Given the description of an element on the screen output the (x, y) to click on. 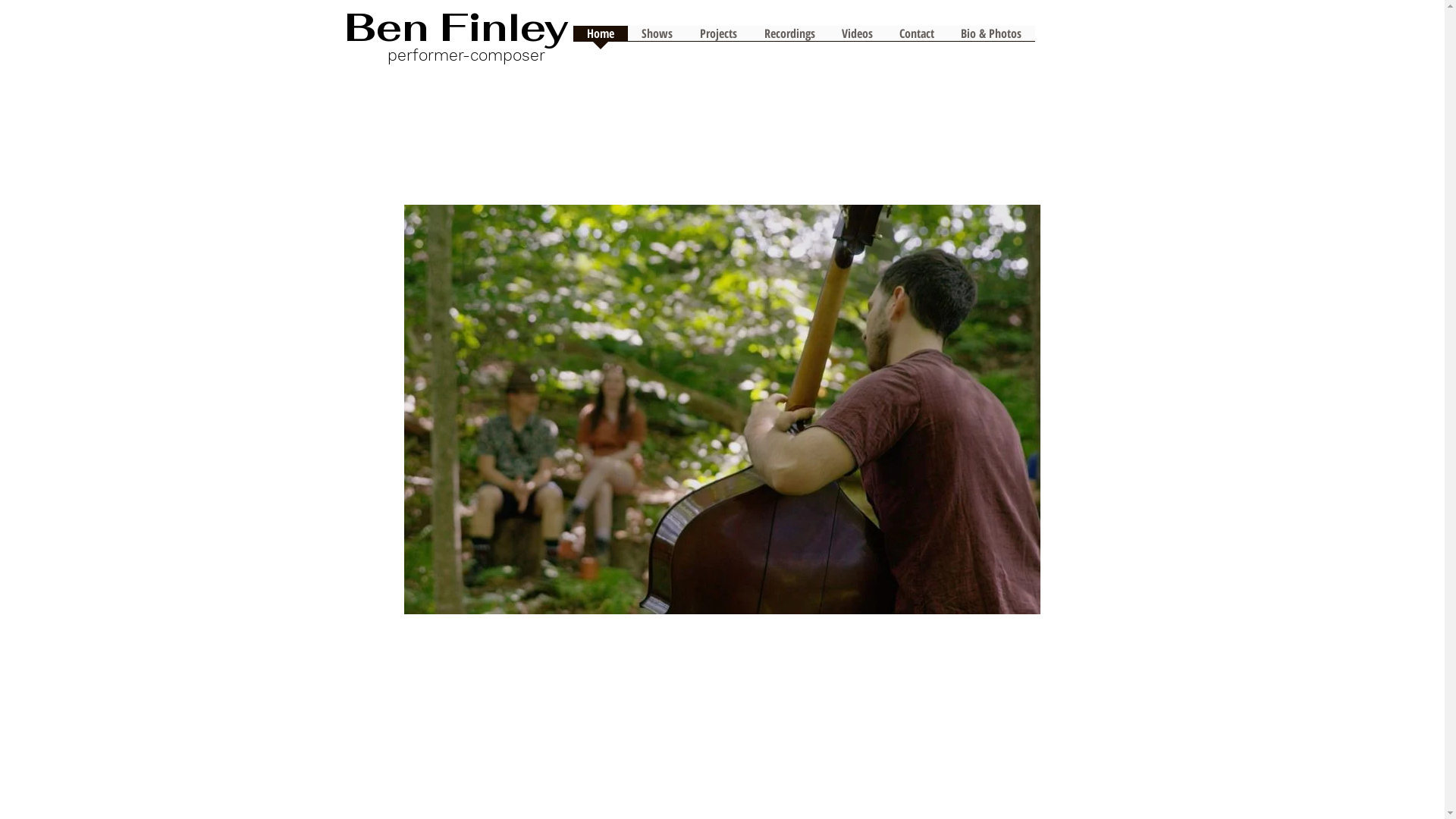
Recordings Element type: text (789, 37)
Bio & Photos Element type: text (991, 37)
Home Element type: text (600, 37)
Ben Finley Element type: text (456, 26)
Contact Element type: text (916, 37)
Videos Element type: text (856, 37)
Shows Element type: text (656, 37)
performer-composer Element type: text (465, 54)
